Given the description of an element on the screen output the (x, y) to click on. 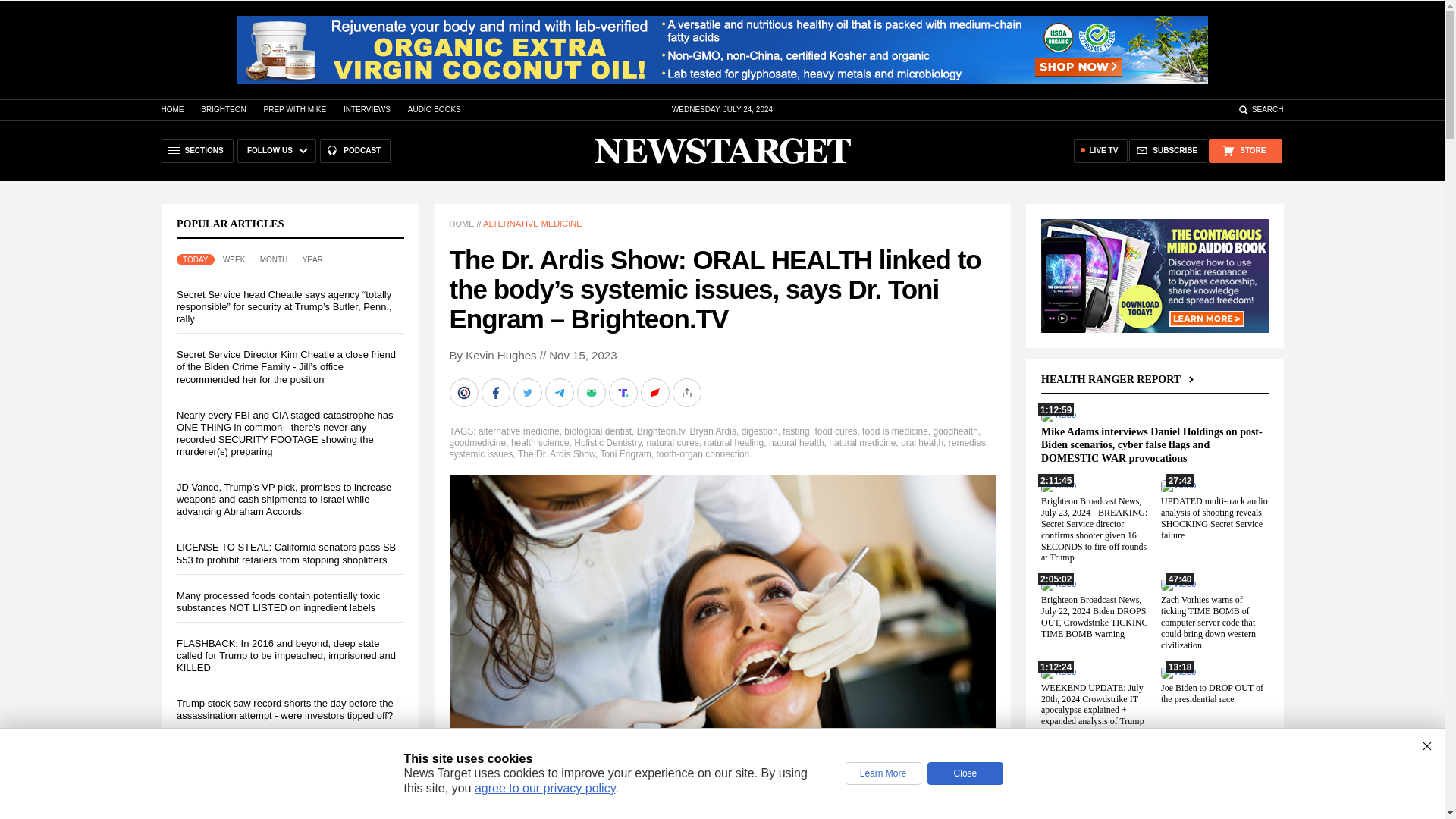
Share on Truth.Social (624, 392)
Share on Gettr (655, 392)
HOME (171, 109)
LIVE TV (1101, 150)
Search (1260, 109)
SEARCH (1260, 109)
Share on Telegram (560, 392)
SUBSCRIBE (1168, 150)
PODCAST (355, 150)
BRIGHTEON (223, 109)
Share on Facebook (496, 392)
More Share Options (687, 392)
PREP WITH MIKE (294, 109)
STORE (1244, 150)
